Given the description of an element on the screen output the (x, y) to click on. 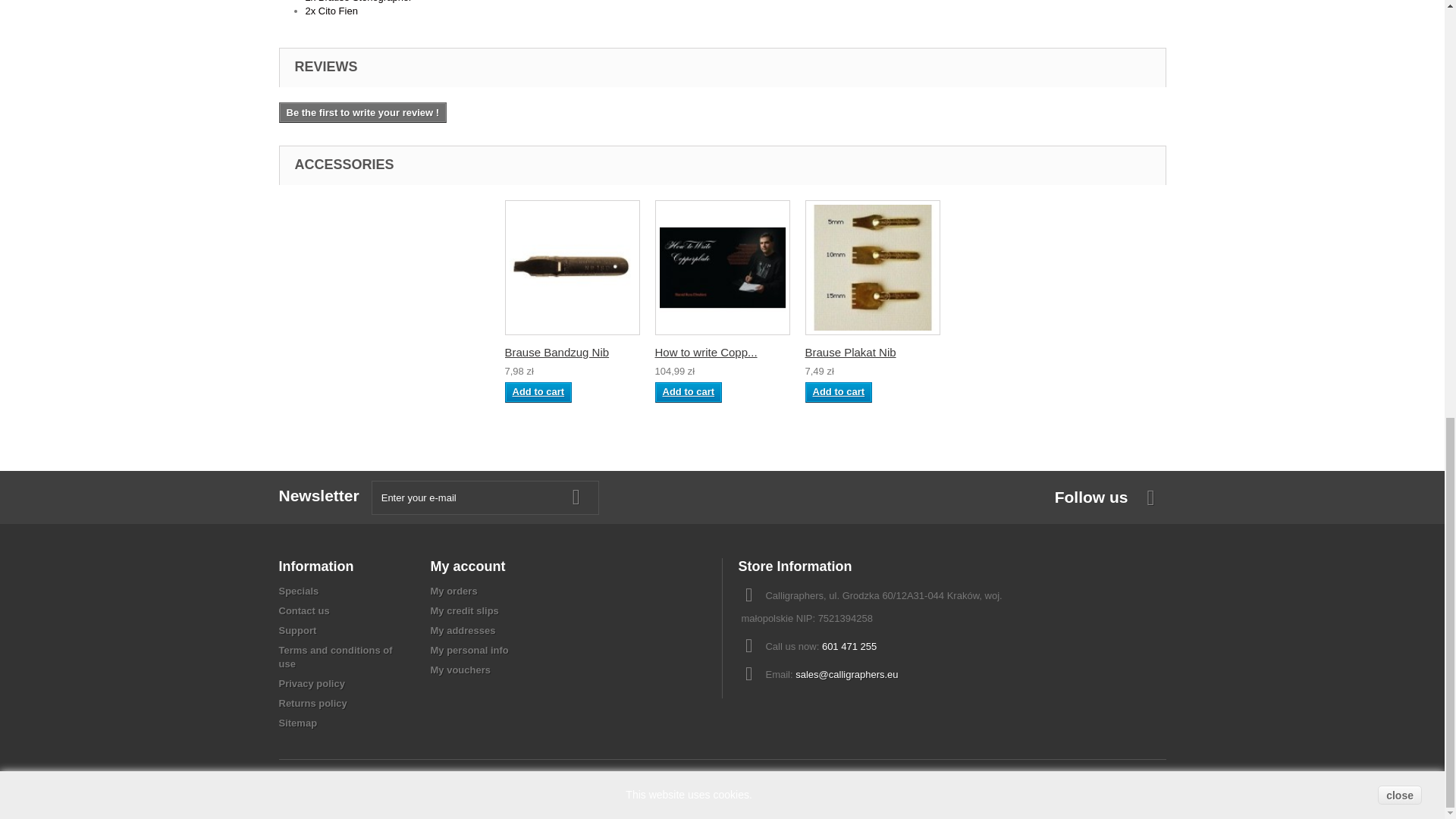
Enter your e-mail (484, 497)
